Given the description of an element on the screen output the (x, y) to click on. 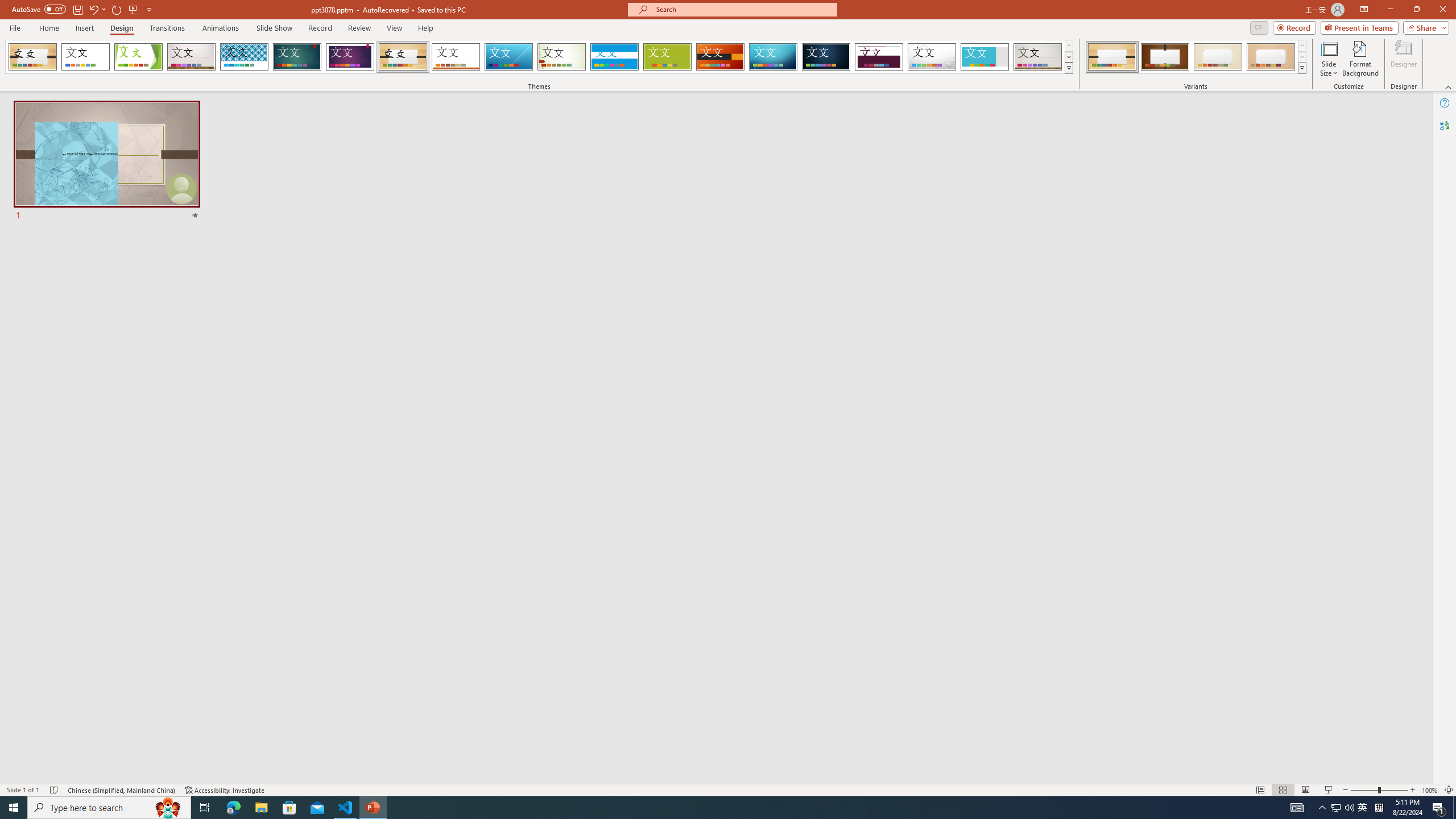
Organic Variant 3 (1217, 56)
Slice (508, 56)
Berlin (720, 56)
